Given the description of an element on the screen output the (x, y) to click on. 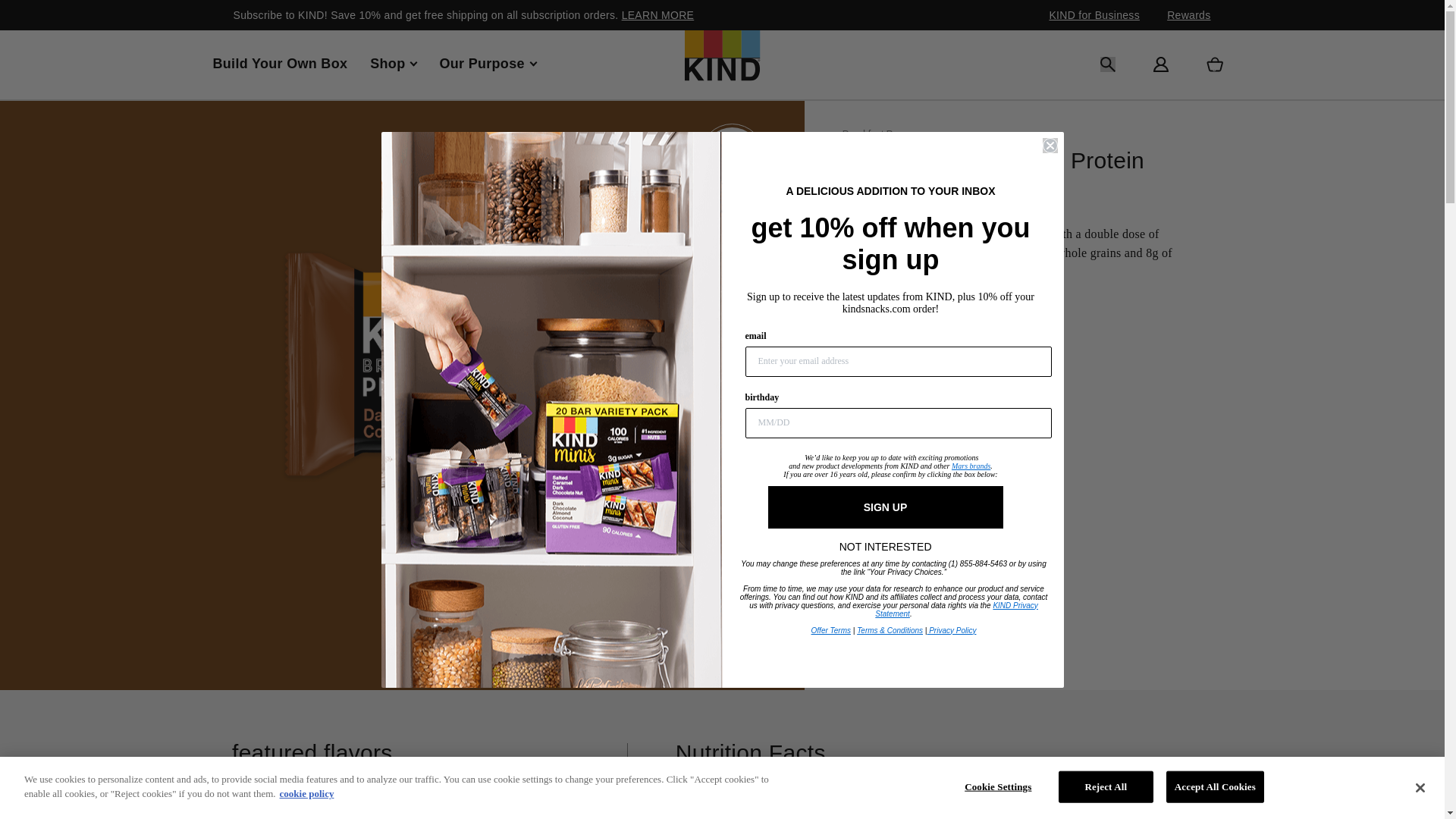
KIND Snacks Home (722, 64)
Build Your Own Box (279, 64)
View Cart (1214, 64)
0 (847, 342)
KIND for Business (1093, 14)
LEARN MORE (657, 15)
Build Your Own Box (279, 64)
Rewards (1188, 14)
1 (884, 536)
1 (847, 379)
